Given the description of an element on the screen output the (x, y) to click on. 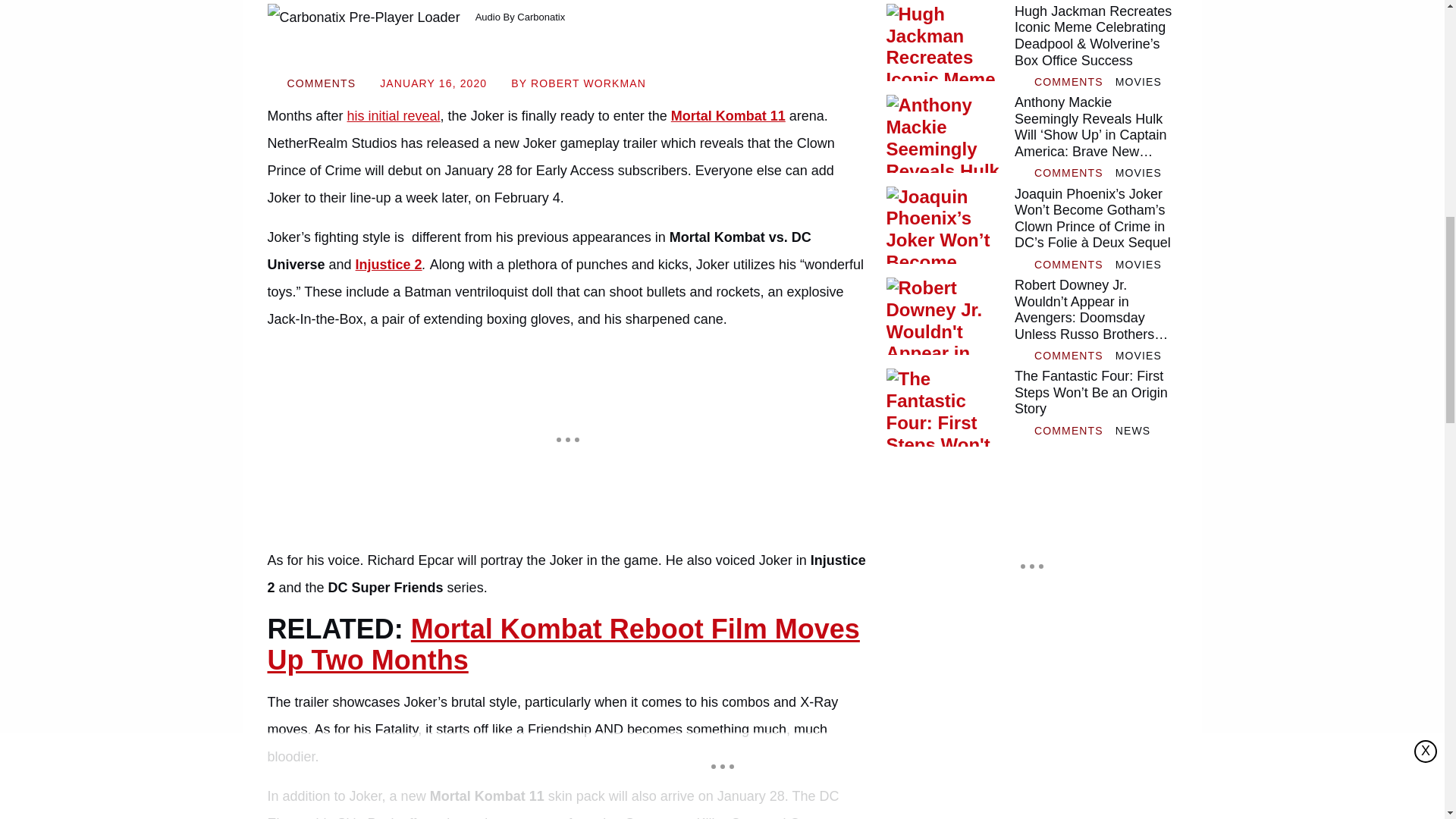
ROBERT WORKMAN (588, 82)
Mortal Kombat Reboot Film Moves Up Two Months (562, 644)
Mortal Kombat 11 (728, 115)
Injustice 2 (388, 264)
his initial reveal (394, 115)
